Given the description of an element on the screen output the (x, y) to click on. 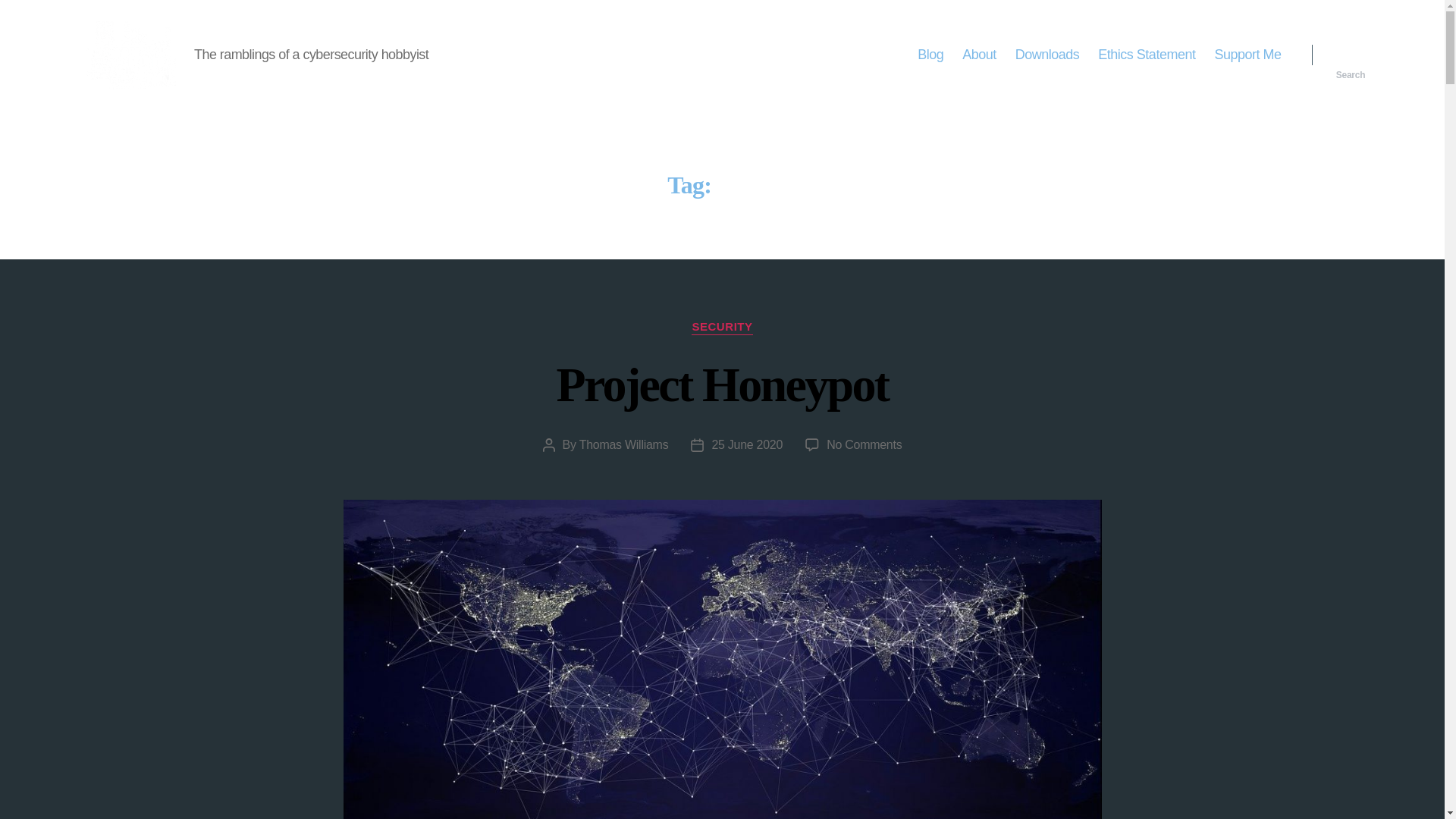
Search (1350, 55)
25 June 2020 (747, 444)
Thomas Williams (623, 444)
Project Honeypot (722, 384)
About (978, 54)
Blog (930, 54)
Support Me (1247, 54)
Ethics Statement (864, 444)
Downloads (1146, 54)
SECURITY (1047, 54)
